Given the description of an element on the screen output the (x, y) to click on. 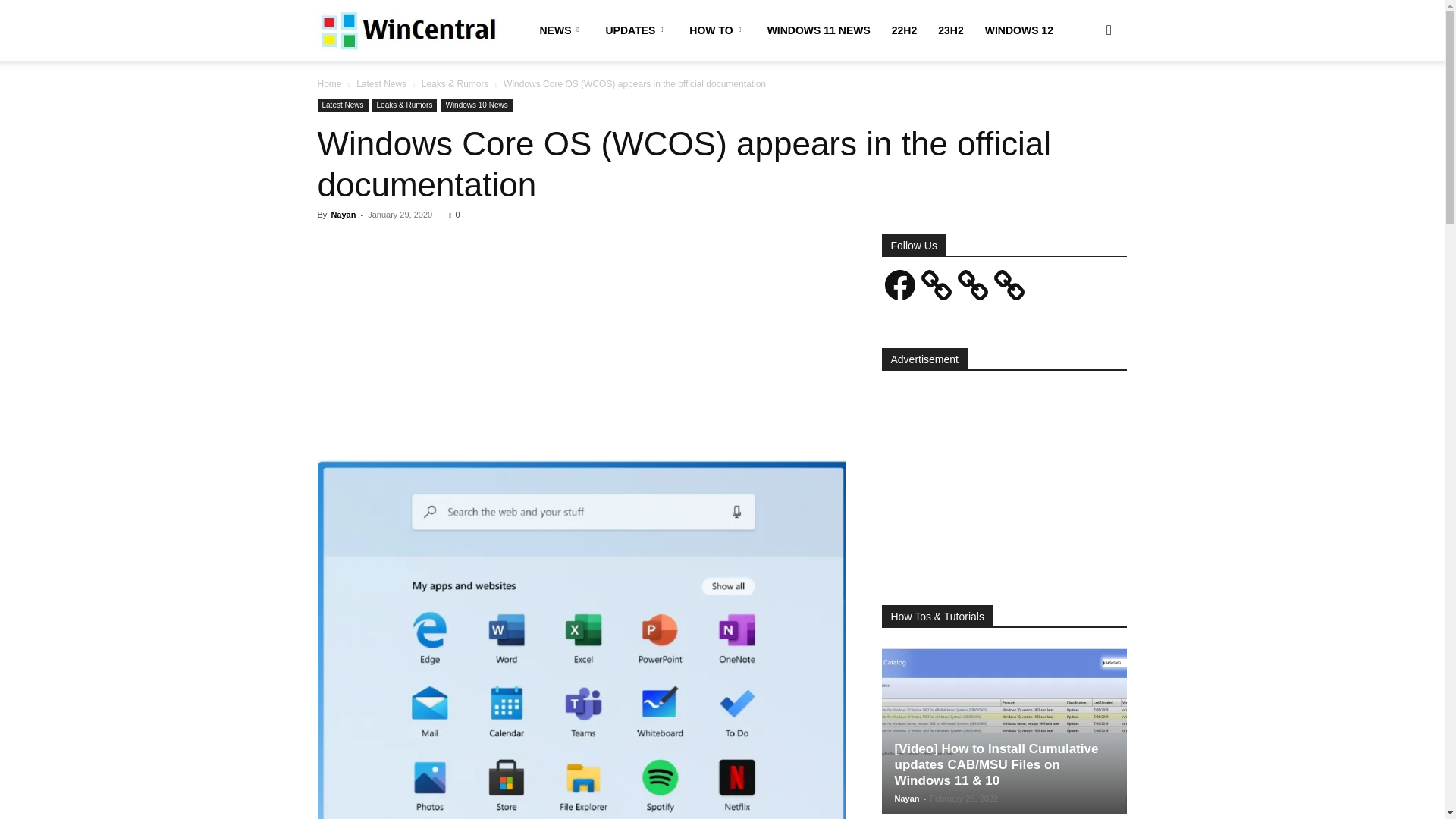
HOW TO (716, 30)
UPDATES (636, 30)
View all posts in Latest News (381, 83)
Search (1085, 102)
WinCentral logo (406, 31)
Latest News (381, 83)
WinCentral (406, 30)
Latest News (342, 105)
Nayan (342, 214)
Windows 10 News (476, 105)
NEWS (562, 30)
Home (328, 83)
WINDOWS 12 (1019, 30)
0 (454, 214)
